Given the description of an element on the screen output the (x, y) to click on. 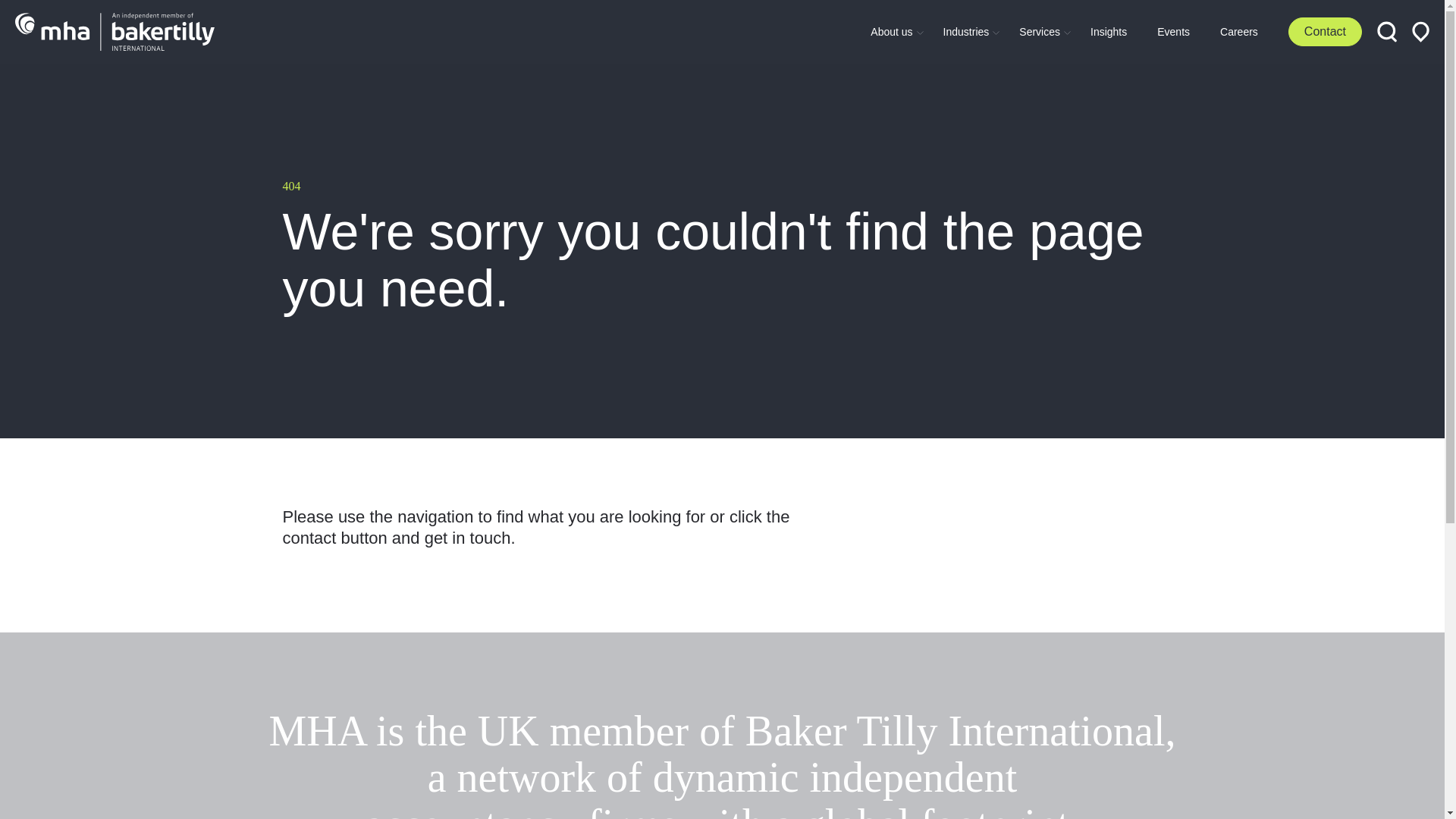
Industries (966, 31)
About us (1079, 31)
